Given the description of an element on the screen output the (x, y) to click on. 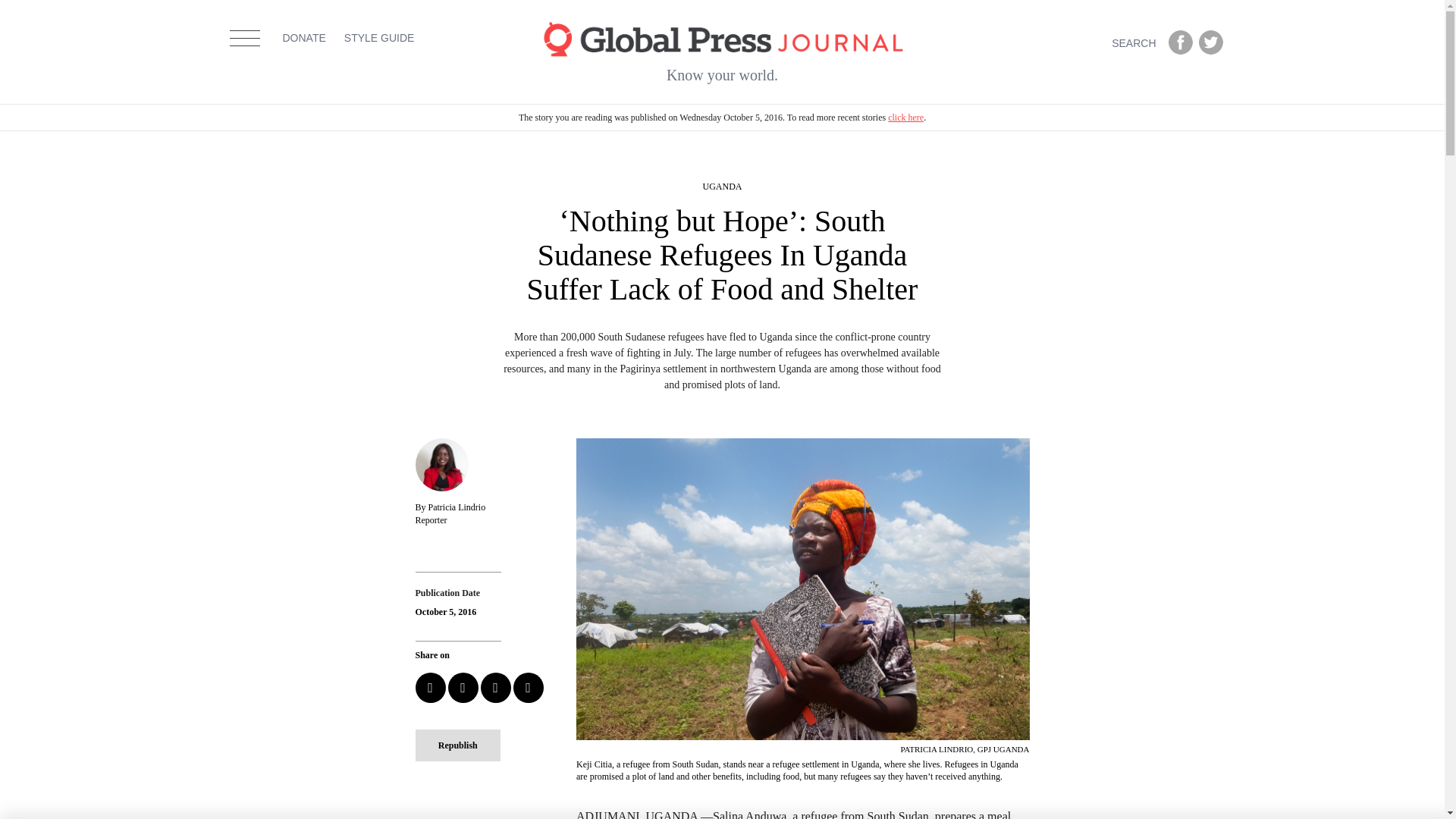
SEARCH (1136, 42)
Visit our Twitter (1210, 42)
Visit our Facebook (1179, 42)
click here (905, 117)
STYLE GUIDE (378, 57)
Global Press Journal (722, 38)
